Given the description of an element on the screen output the (x, y) to click on. 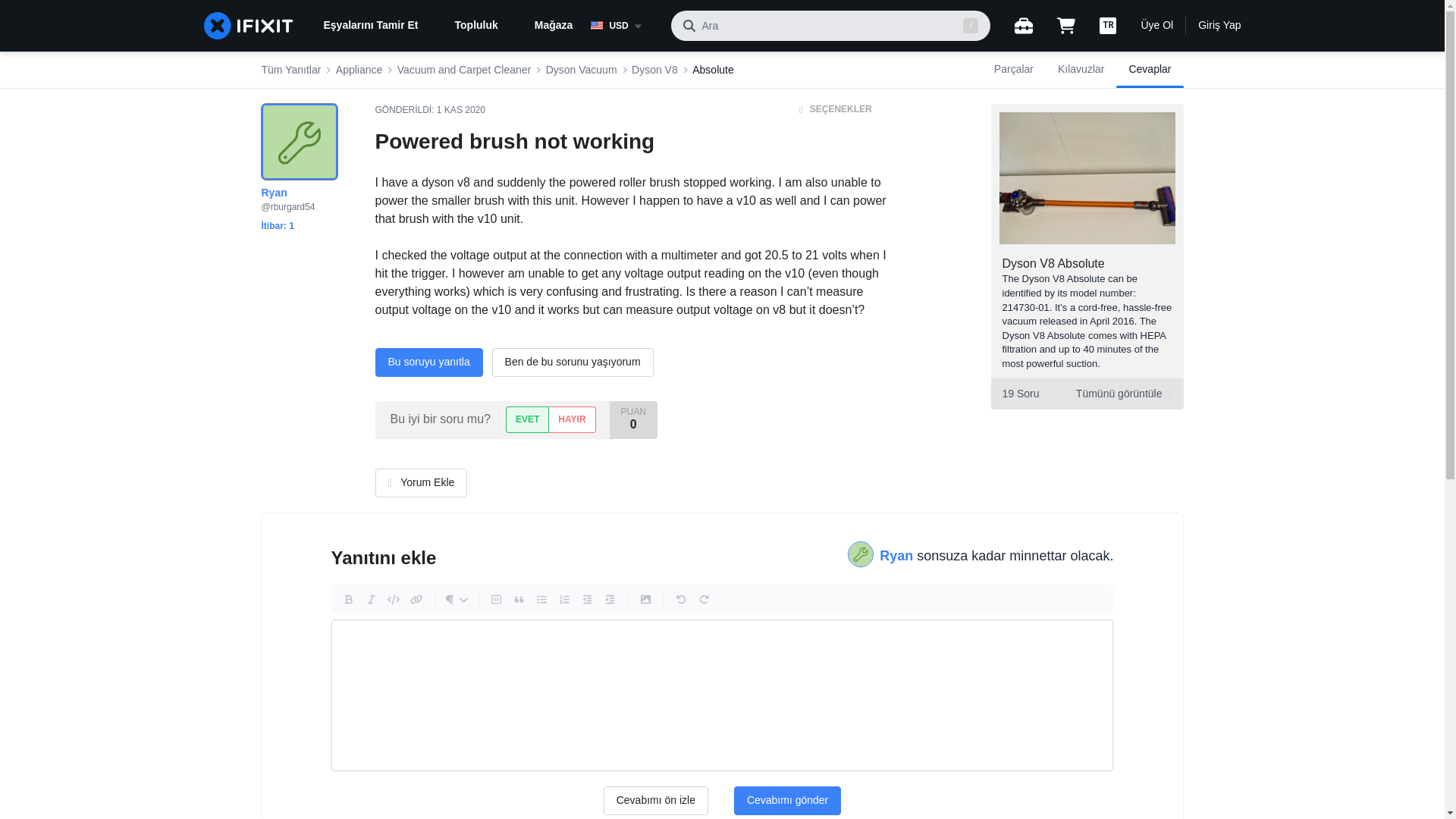
Vacuum and Carpet Cleaner (464, 69)
Absolute (713, 69)
Appliance (359, 69)
Dyson Vacuum (581, 69)
Dyson V8 Absolute (1054, 263)
Sun, 01 Nov 2020 13:31:33 -0700 (460, 109)
USD (625, 25)
Dyson V8 (654, 69)
Cevaplar (1149, 69)
